Given the description of an element on the screen output the (x, y) to click on. 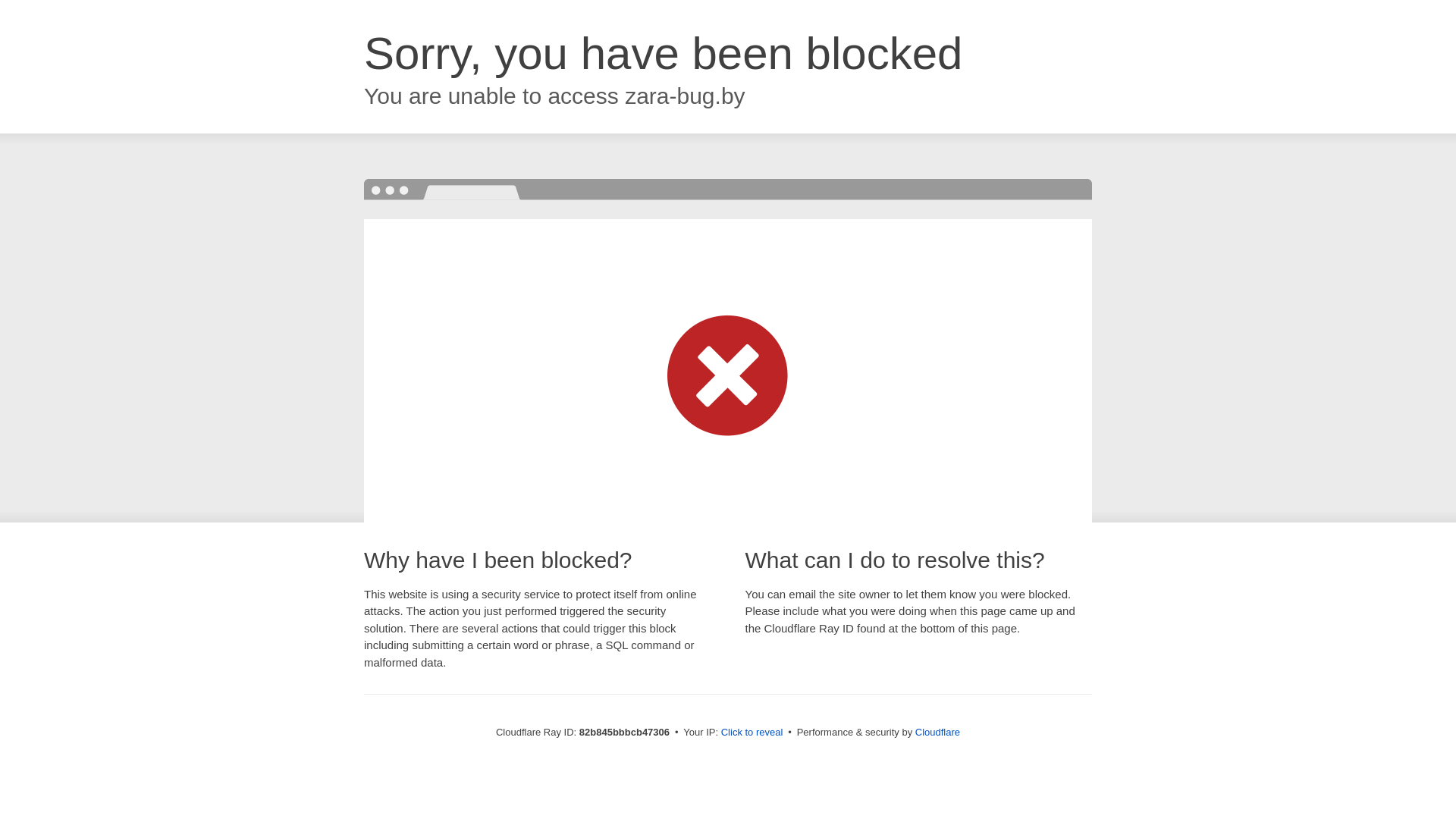
Click to reveal Element type: text (752, 732)
Cloudflare Element type: text (937, 731)
